Given the description of an element on the screen output the (x, y) to click on. 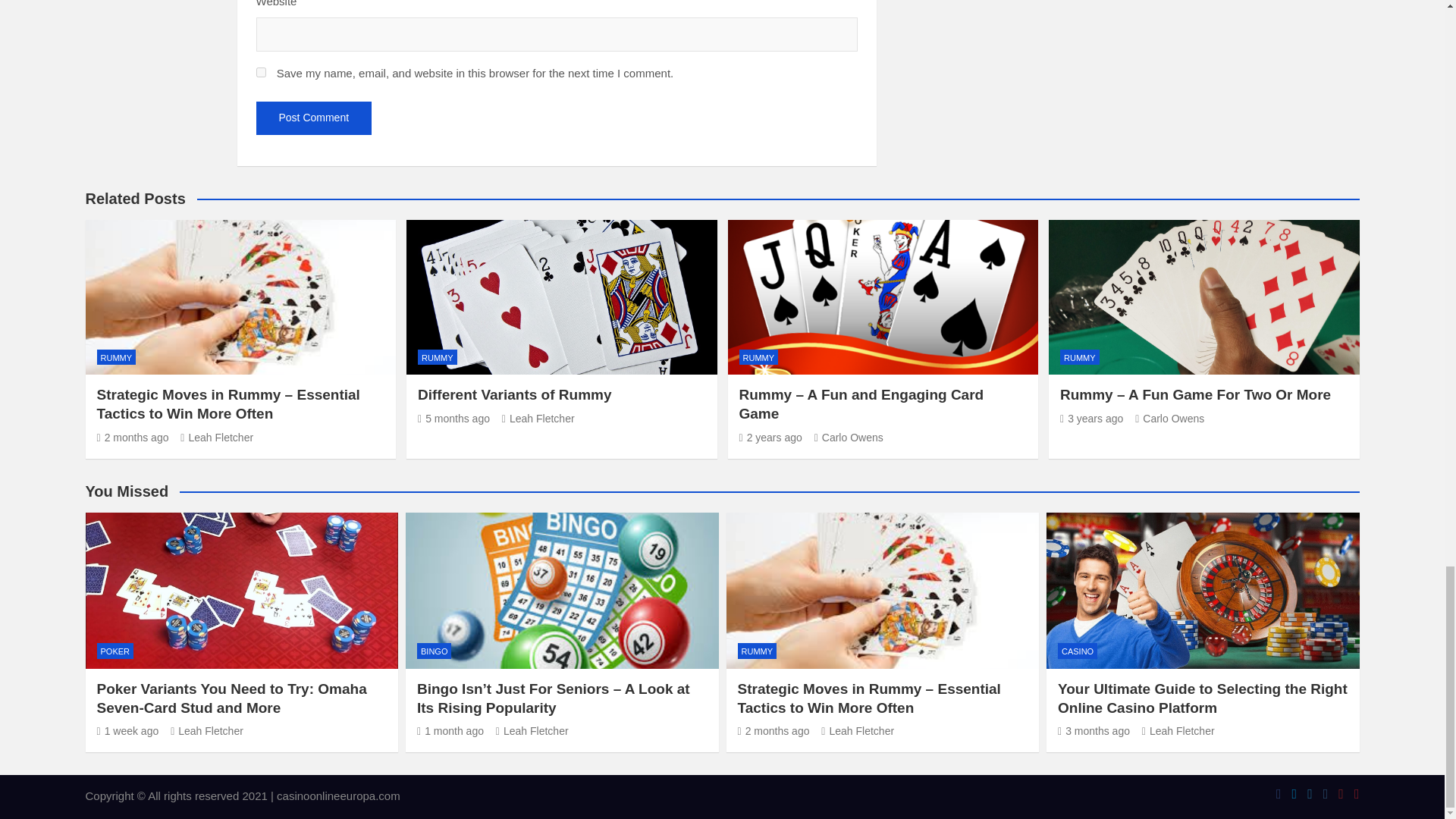
Post Comment (314, 118)
yes (261, 71)
Different Variants of Rummy (453, 418)
RUMMY (116, 357)
Post Comment (314, 118)
